Given the description of an element on the screen output the (x, y) to click on. 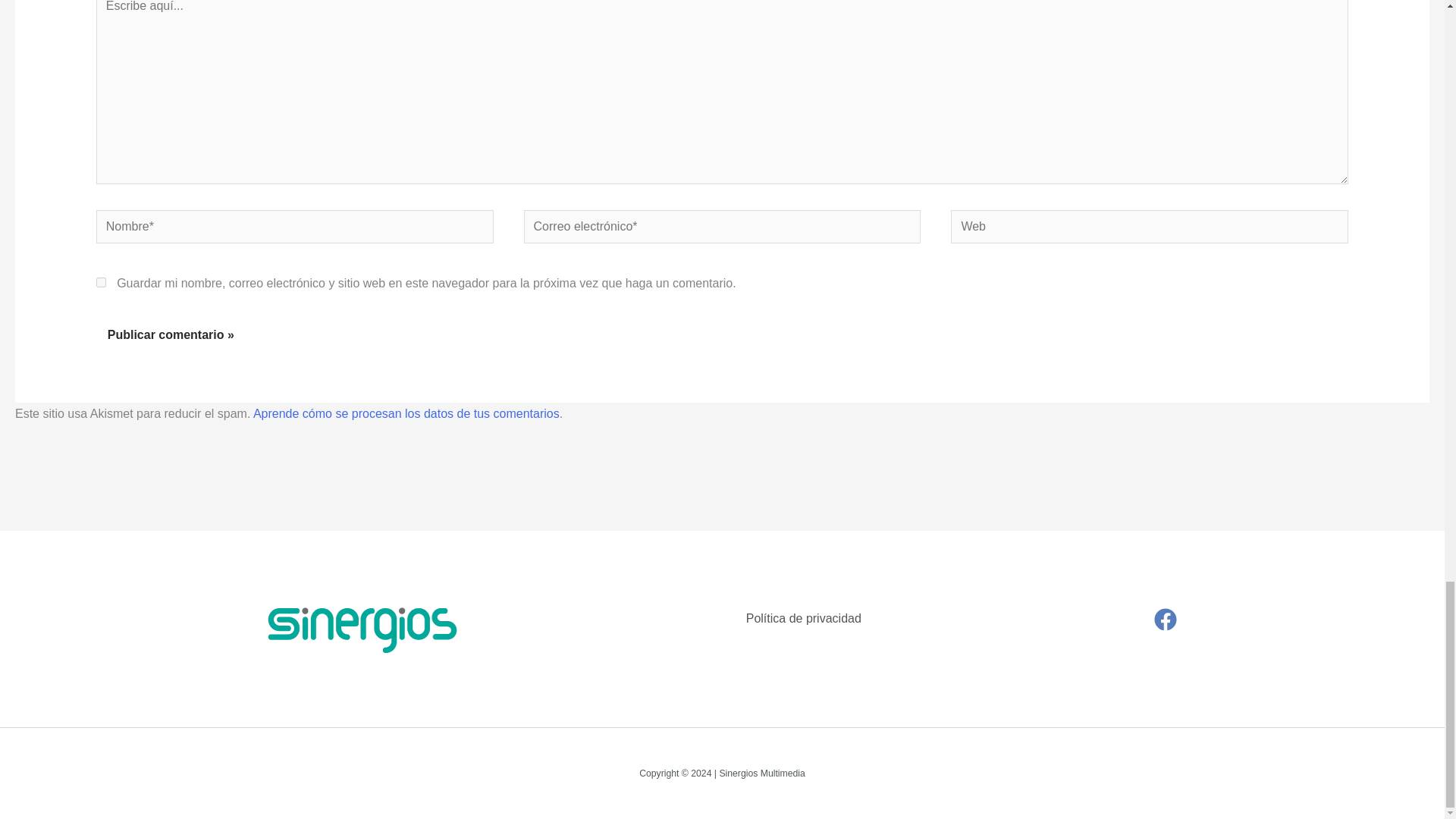
yes (101, 282)
